Given the description of an element on the screen output the (x, y) to click on. 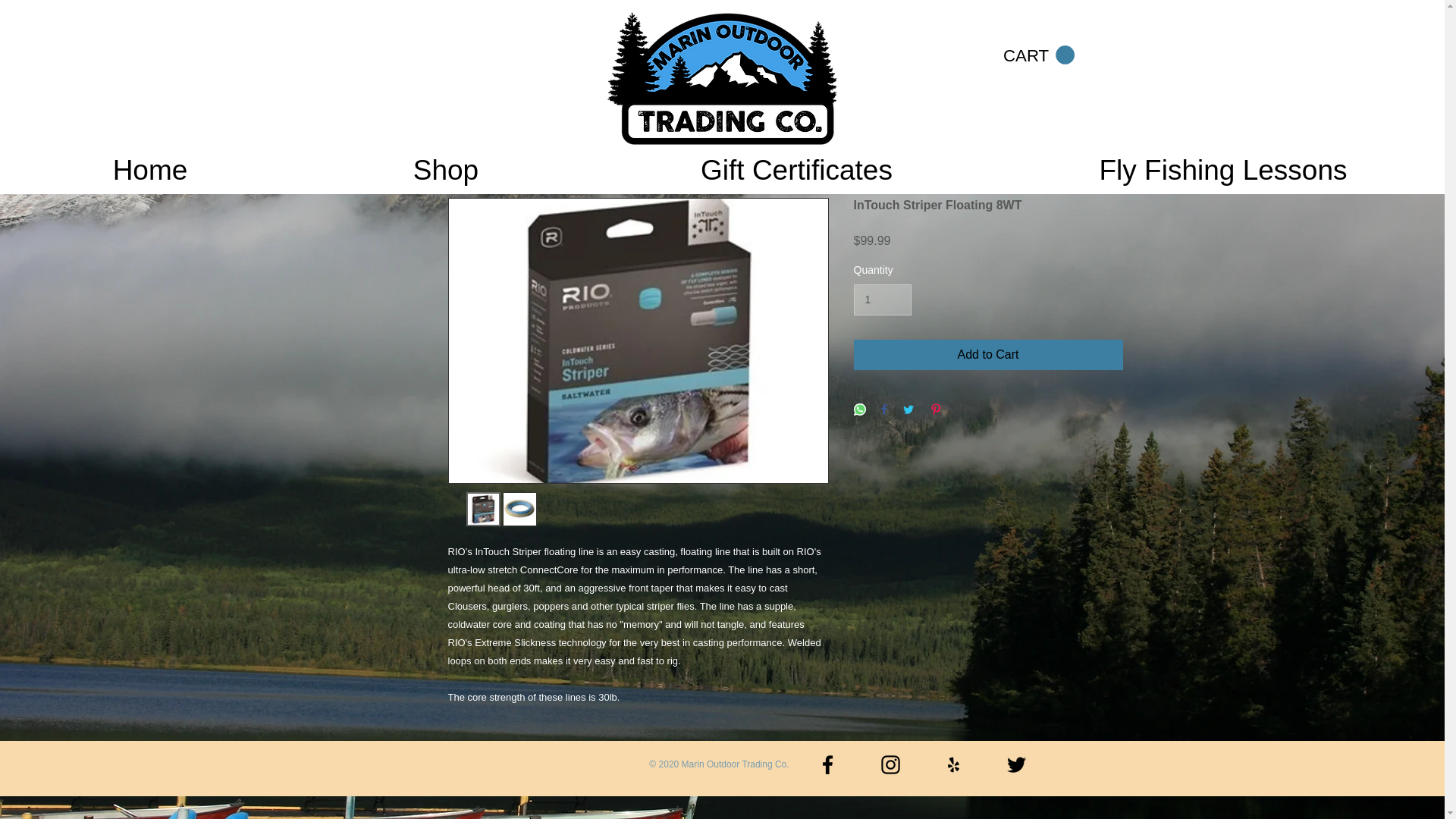
Add to Cart (987, 354)
CART (1038, 55)
Home (149, 165)
1 (882, 299)
CART (1038, 55)
Gift Certificates (796, 165)
